Given the description of an element on the screen output the (x, y) to click on. 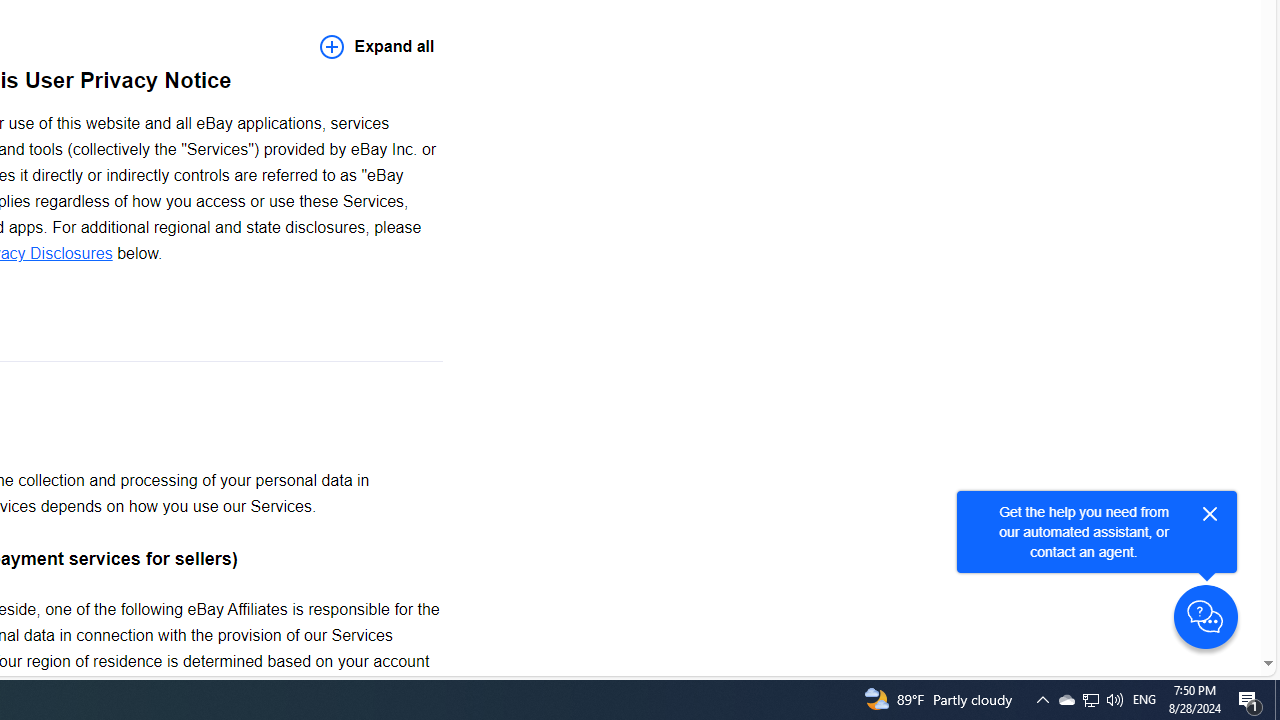
Expand all (377, 45)
